Given the description of an element on the screen output the (x, y) to click on. 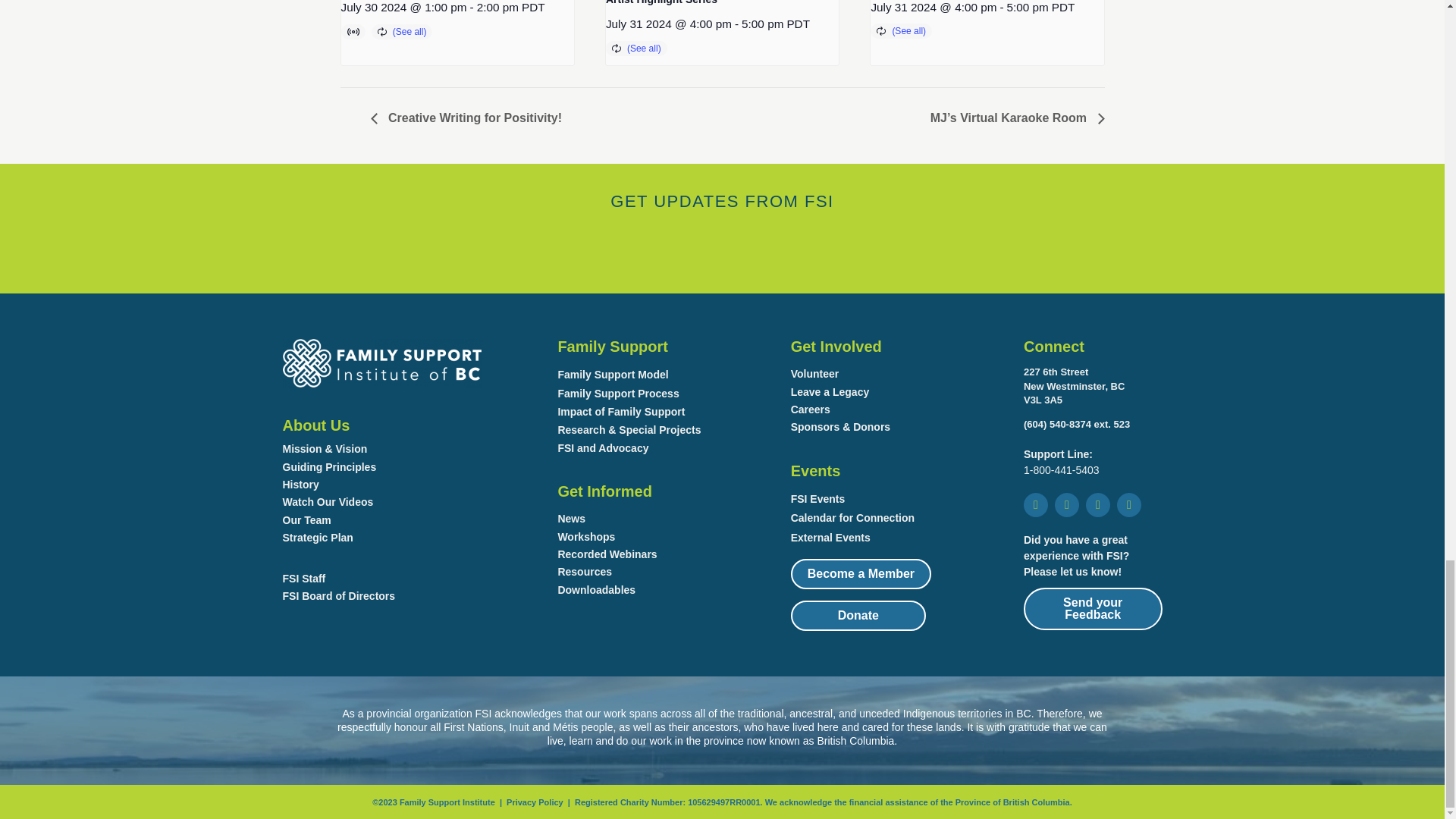
Virtual Event (354, 31)
